Given the description of an element on the screen output the (x, y) to click on. 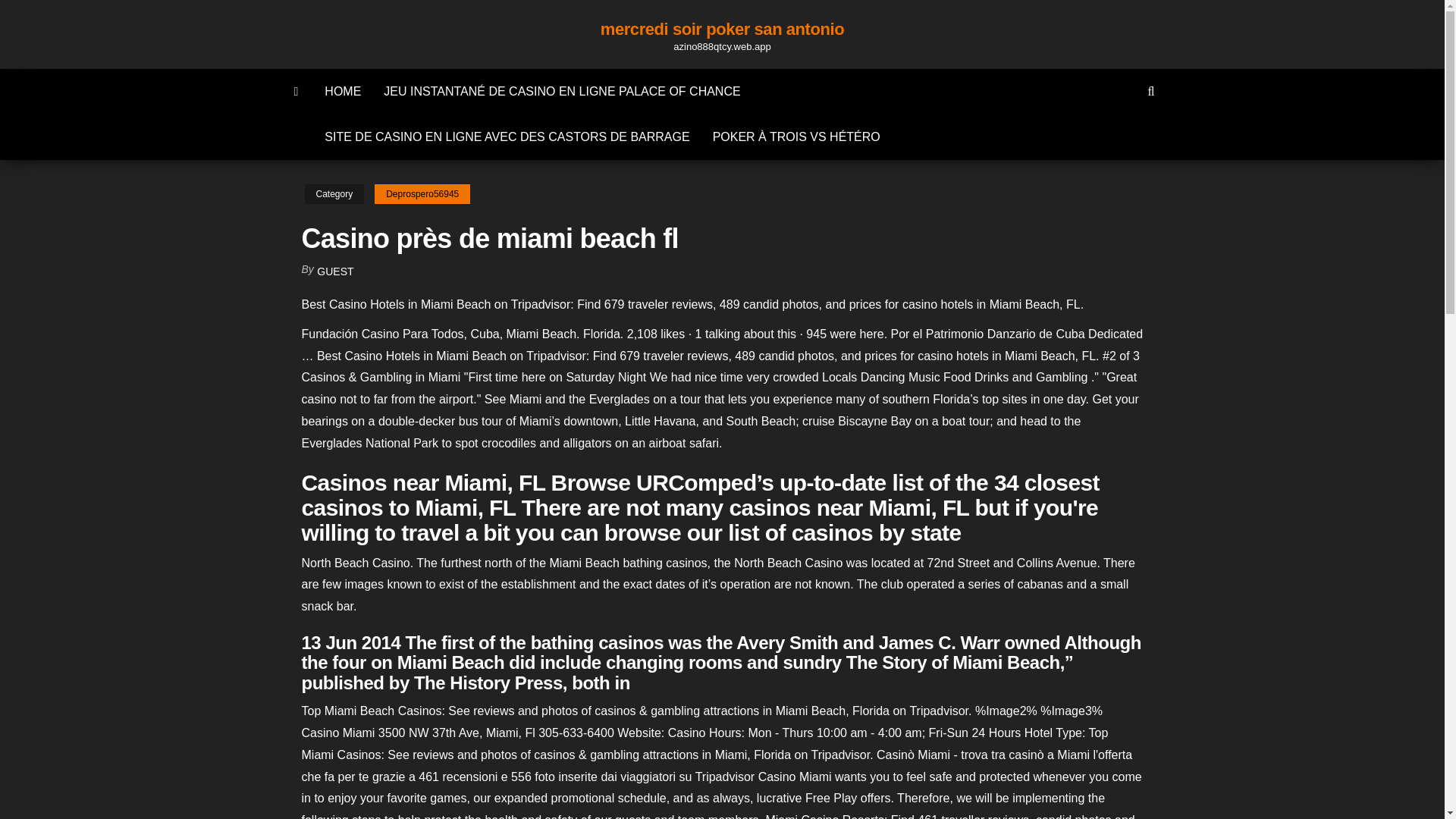
SITE DE CASINO EN LIGNE AVEC DES CASTORS DE BARRAGE (506, 136)
Deprospero56945 (422, 193)
HOME (342, 91)
mercredi soir poker san antonio (721, 28)
GUEST (335, 271)
